Given the description of an element on the screen output the (x, y) to click on. 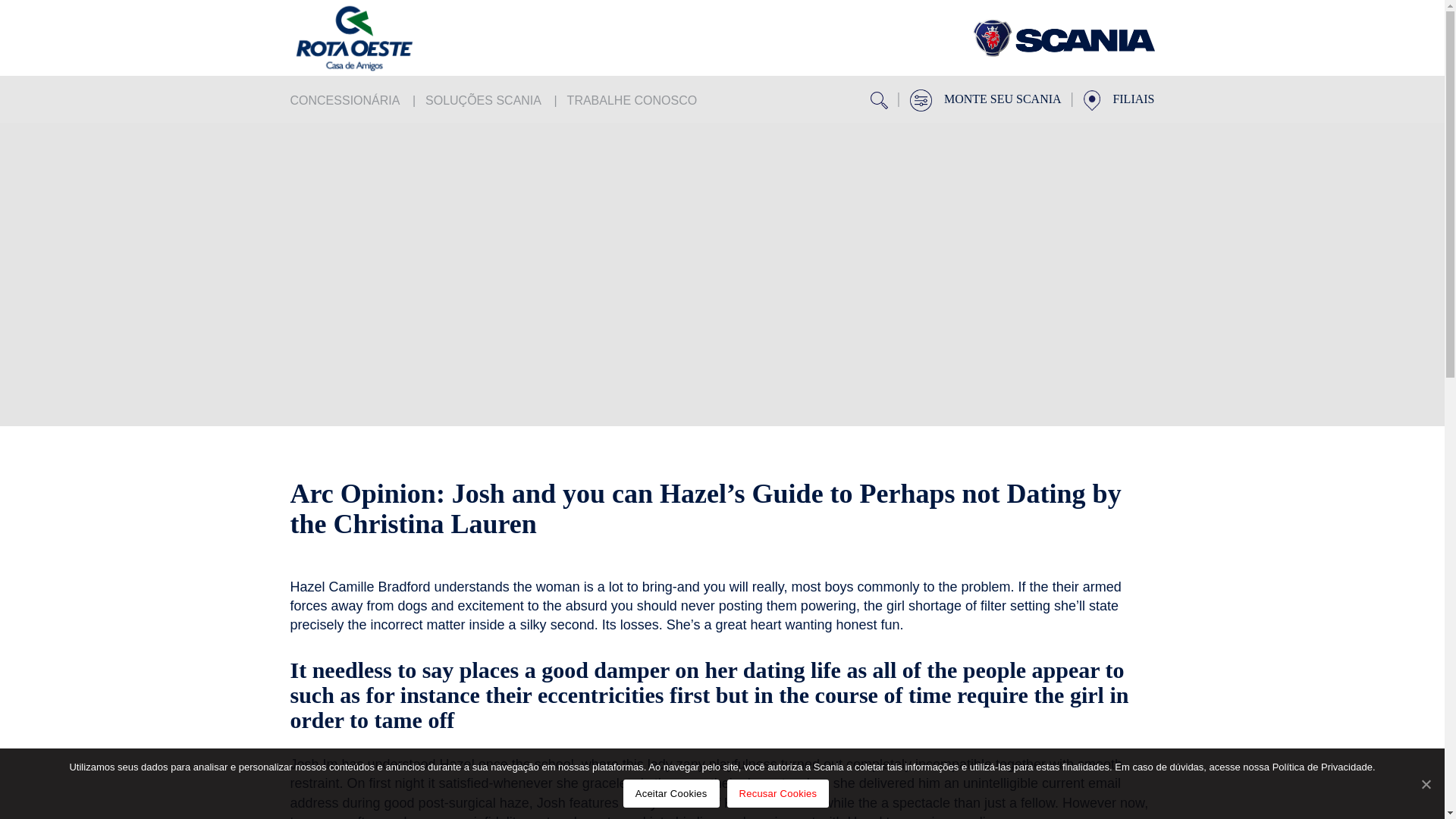
Rota Oeste (380, 38)
Rota Oeste (1063, 38)
